Given the description of an element on the screen output the (x, y) to click on. 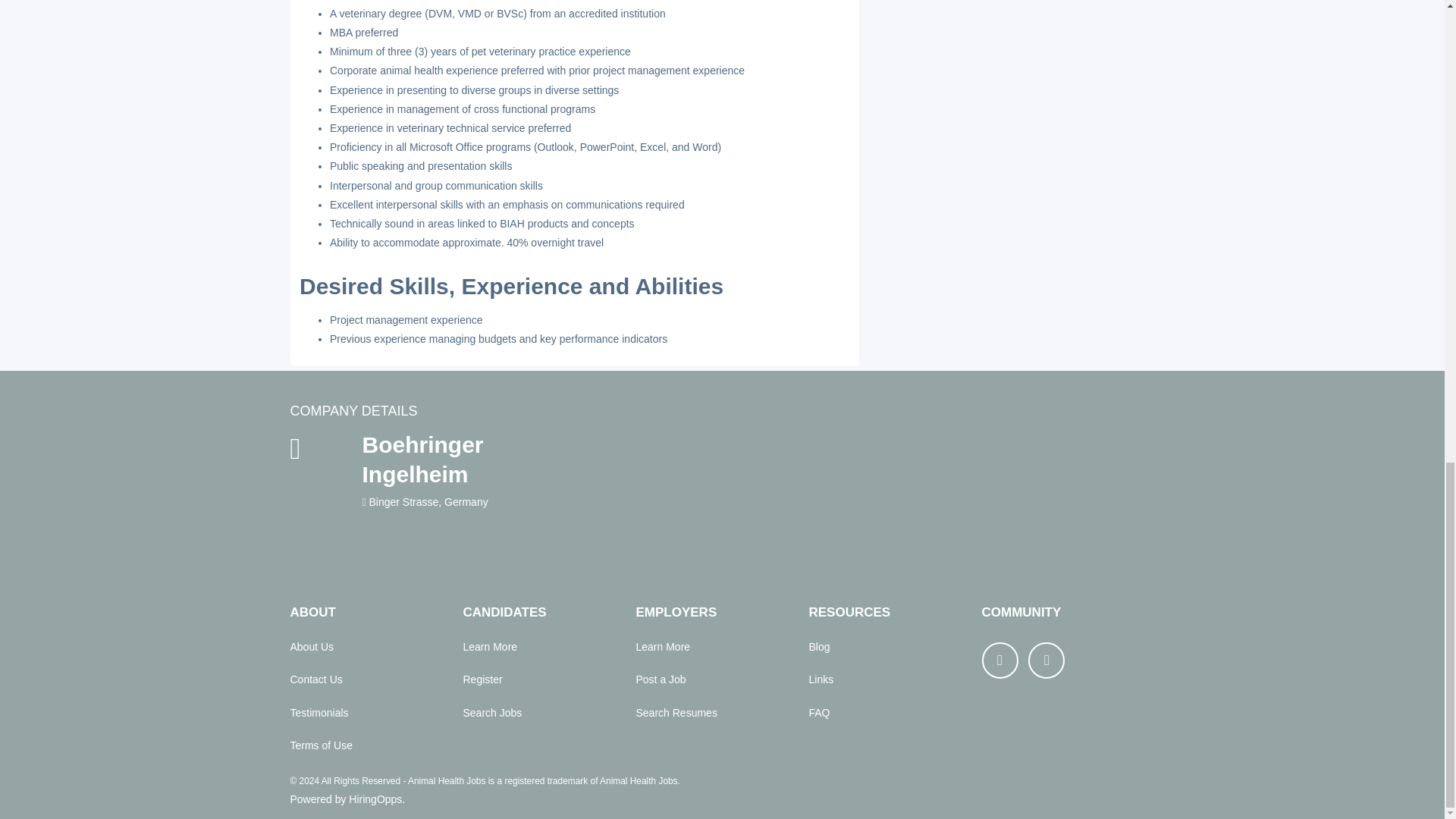
About Us (311, 646)
Links (820, 679)
HiringOpps (375, 799)
Learn More (662, 646)
Search Jobs (492, 712)
Testimonials (318, 712)
Post a Job (659, 679)
Contact Us (315, 679)
Blog (818, 646)
Search Resumes (675, 712)
